Given the description of an element on the screen output the (x, y) to click on. 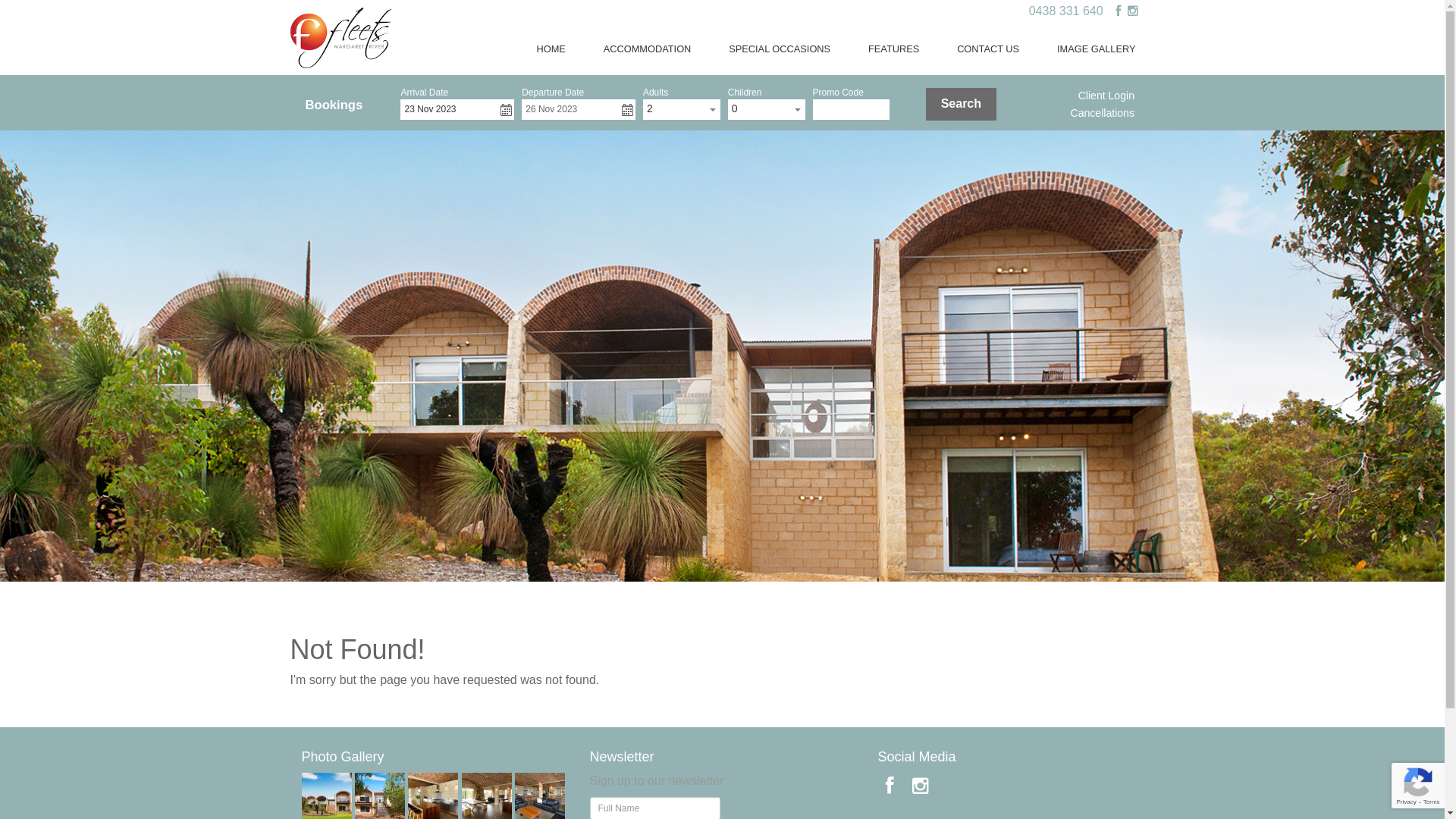
Facebook Element type: hover (1117, 10)
Search Element type: text (960, 103)
IMAGE GALLERY Element type: text (1096, 48)
Facebook Element type: hover (889, 785)
FEATURES Element type: text (893, 48)
Instagram Element type: hover (920, 785)
Instagram Element type: hover (1131, 10)
Client Login Element type: text (1106, 95)
HOME Element type: text (550, 48)
0438 331 640 Element type: text (1066, 10)
SPECIAL OCCASIONS Element type: text (779, 48)
Cancellations Element type: text (1102, 112)
ACCOMMODATION Element type: text (646, 48)
CONTACT US Element type: text (988, 48)
